Given the description of an element on the screen output the (x, y) to click on. 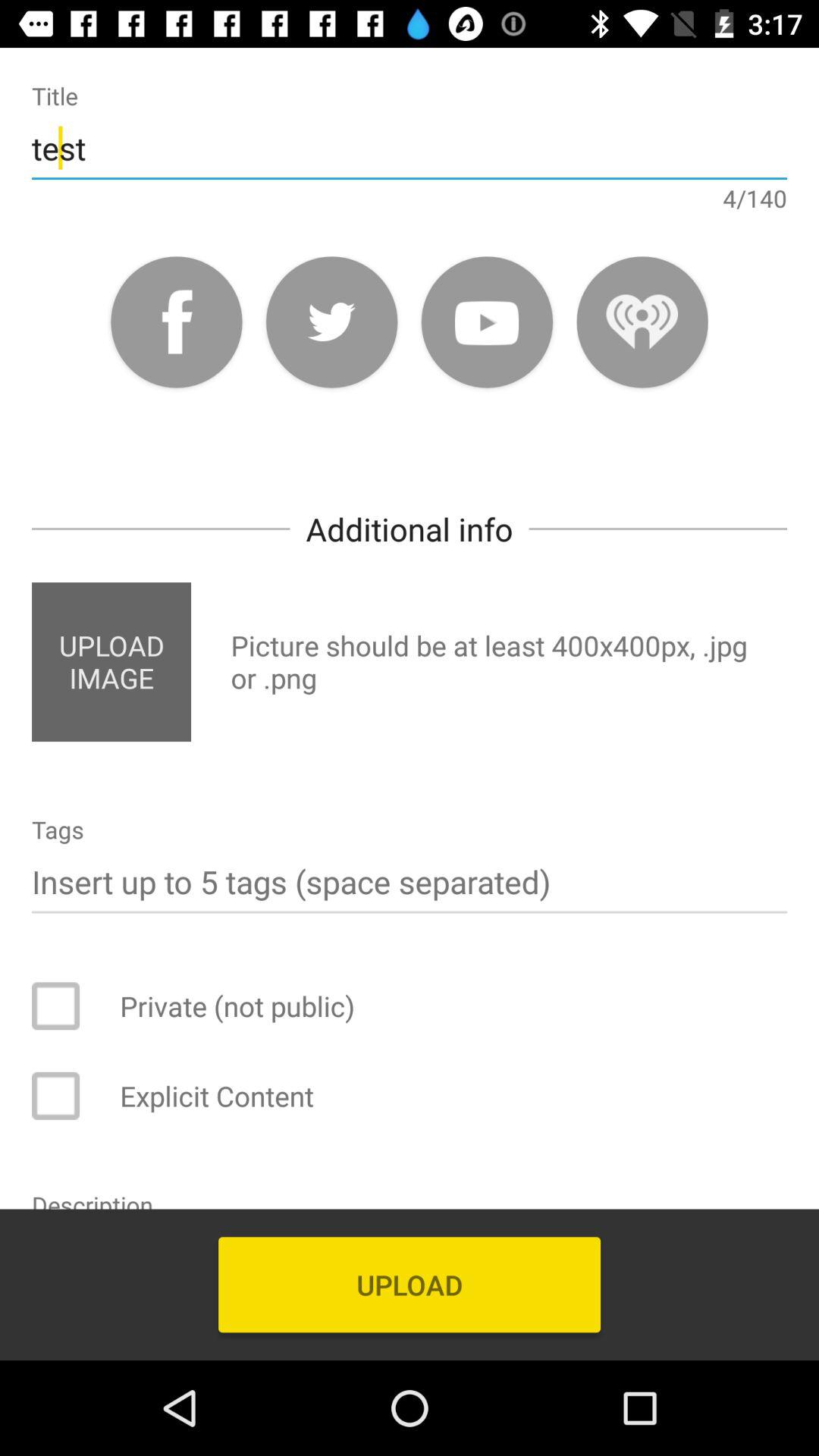
turn on upload image item (111, 661)
